Given the description of an element on the screen output the (x, y) to click on. 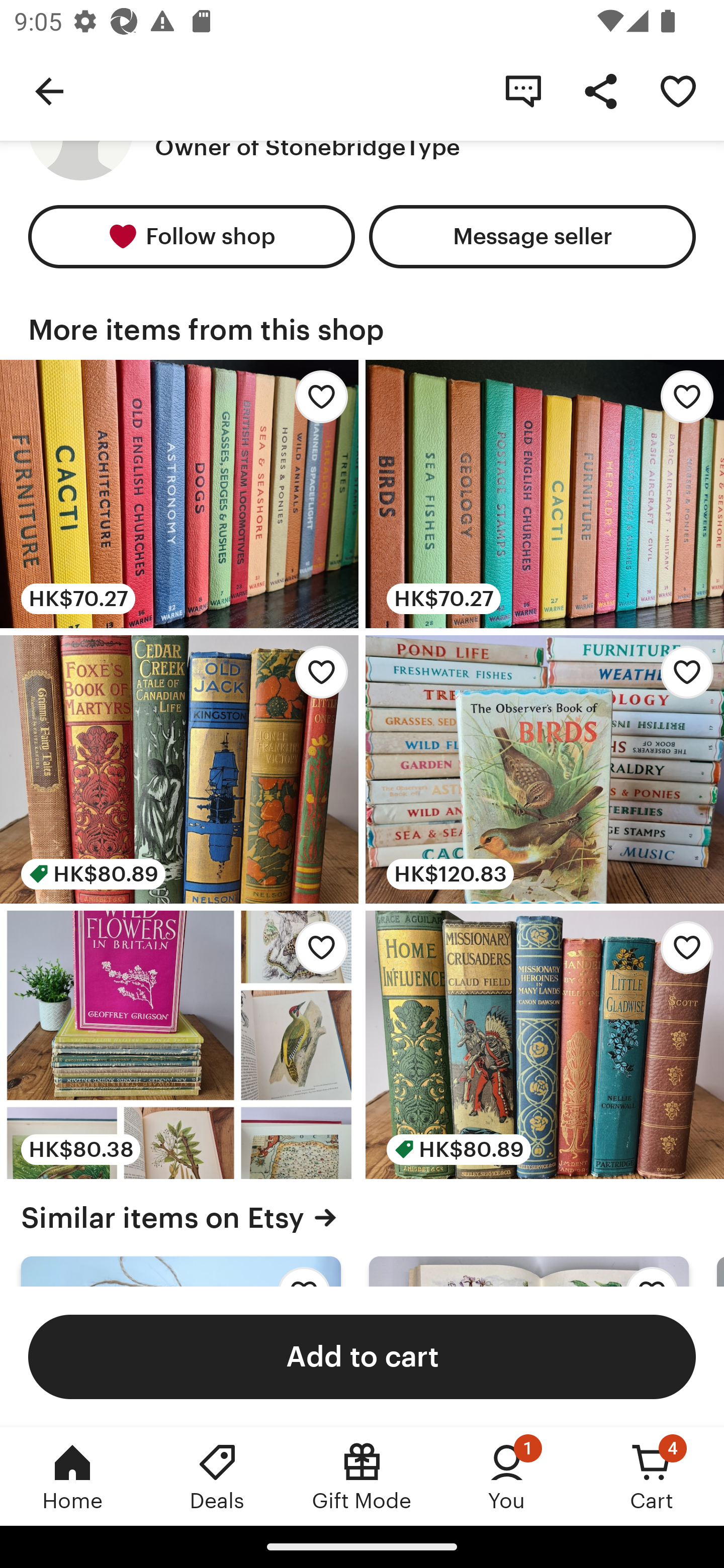
Navigate up (49, 90)
Contact shop (523, 90)
Share (600, 90)
Follow shop Unfollow StonebridgeType (191, 236)
Message seller (532, 236)
Similar items on Etsy  (362, 1217)
Add to cart (361, 1355)
Deals (216, 1475)
Gift Mode (361, 1475)
You, 1 new notification You (506, 1475)
Cart, 4 new notifications Cart (651, 1475)
